Given the description of an element on the screen output the (x, y) to click on. 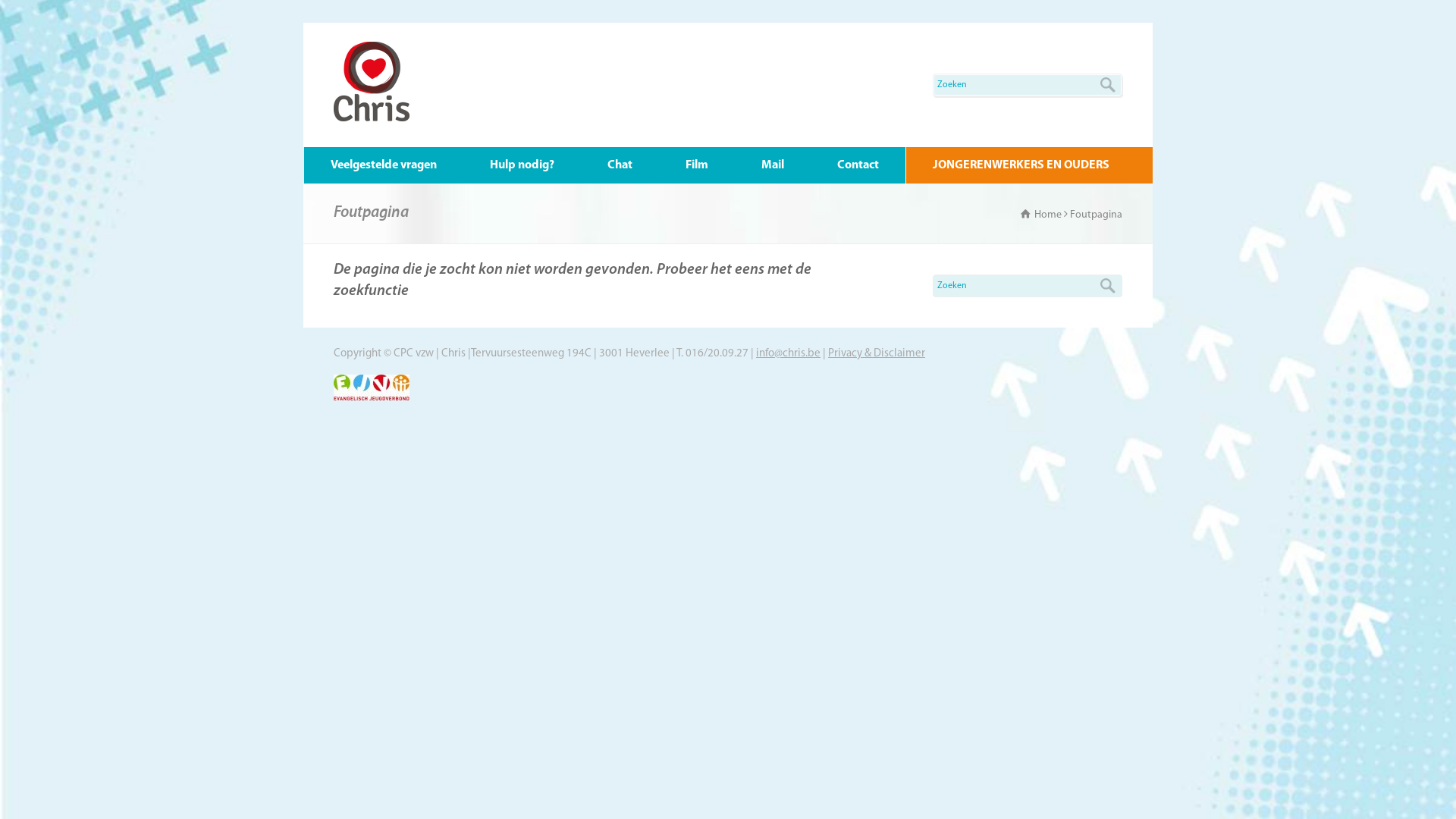
Veelgestelde vragen Element type: text (383, 165)
Chat Element type: text (619, 165)
Mail Element type: text (772, 165)
Home Element type: text (1040, 214)
Contact Element type: text (857, 165)
Film Element type: text (696, 165)
info@chris.be Element type: text (788, 353)
Privacy & Disclaimer Element type: text (876, 353)
JONGERENWERKERS EN OUDERS Element type: text (1020, 165)
Hulp nodig? Element type: text (521, 165)
